Given the description of an element on the screen output the (x, y) to click on. 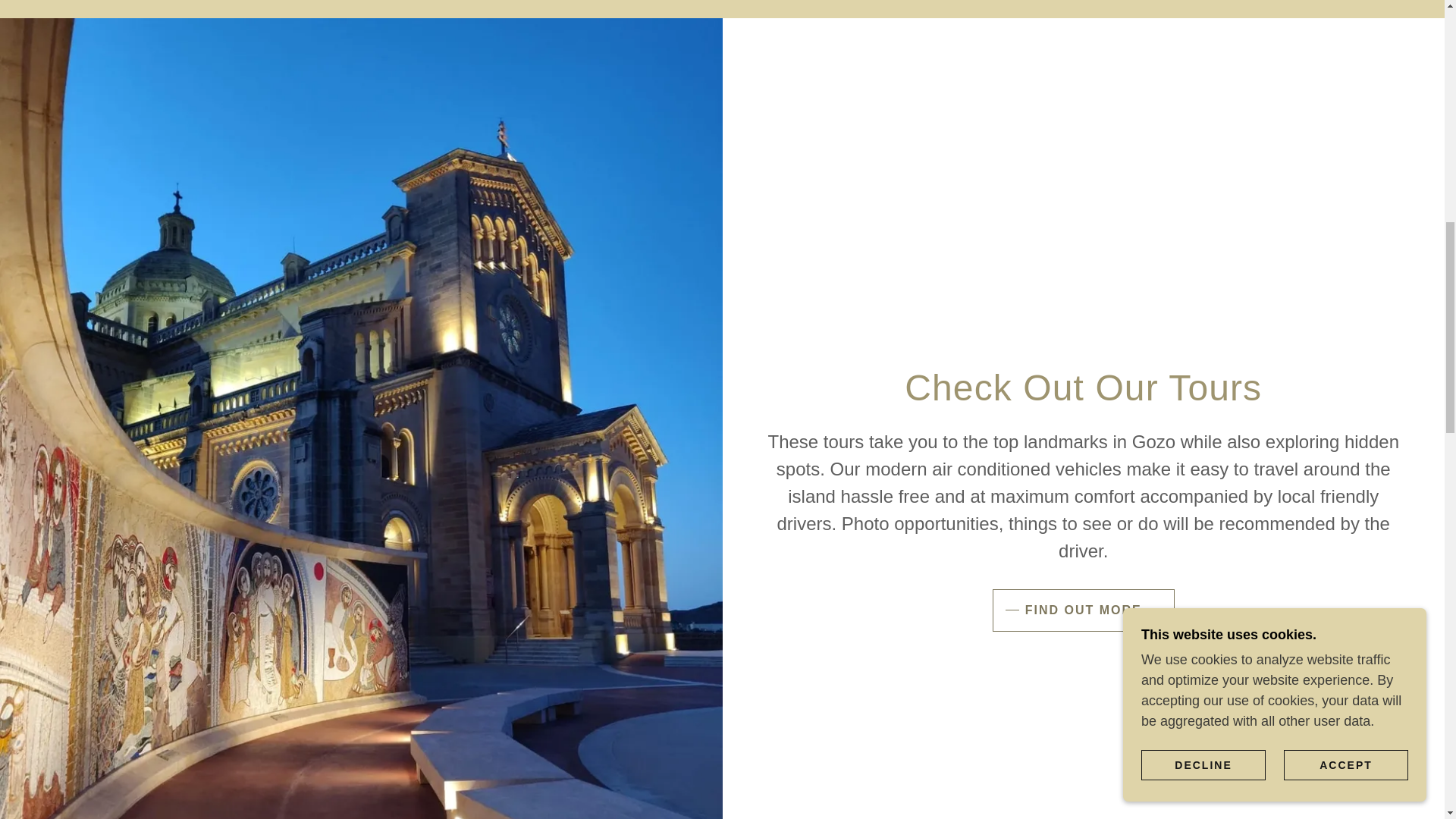
FIND OUT MORE (1083, 609)
